Given the description of an element on the screen output the (x, y) to click on. 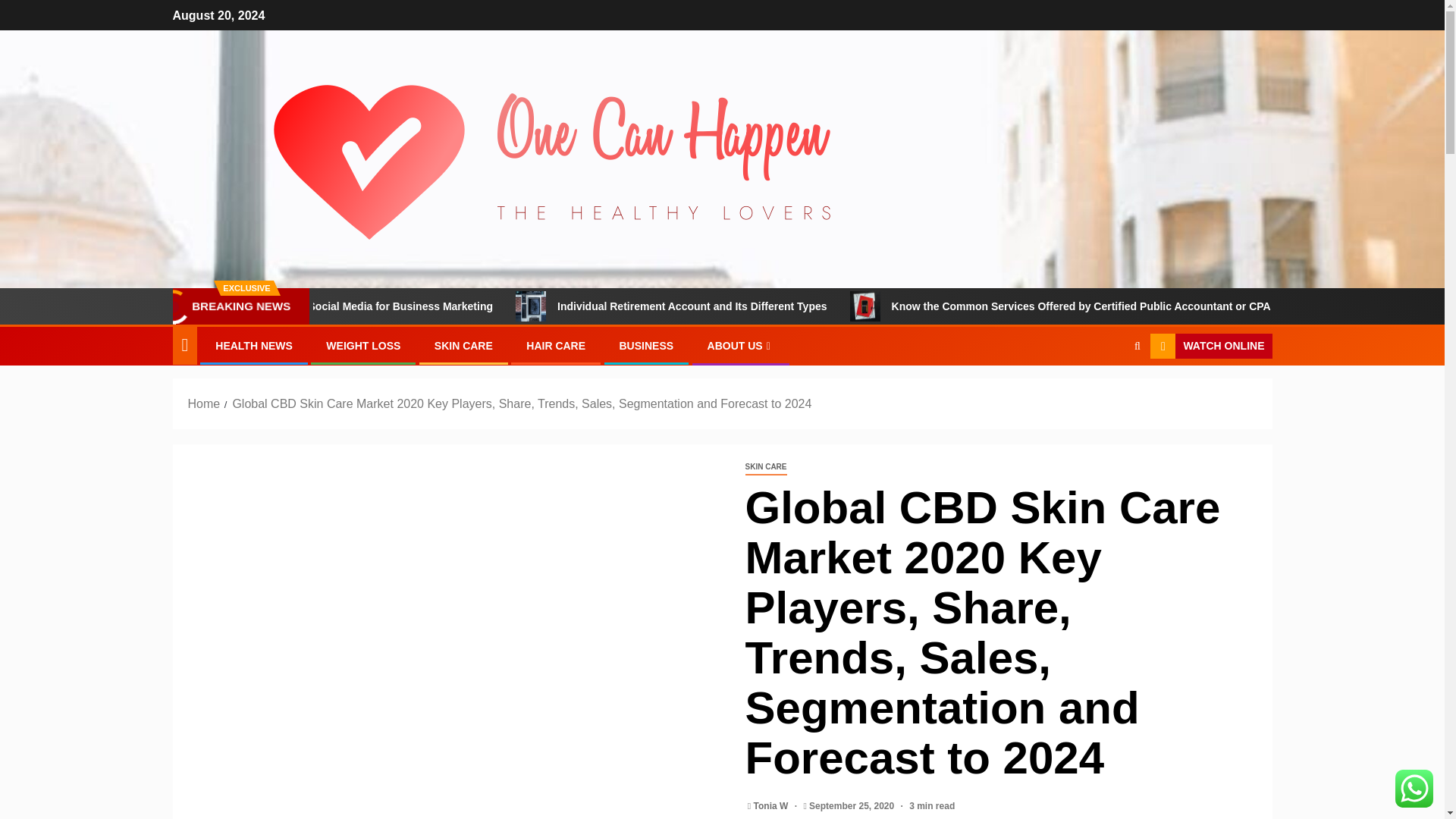
The Significance of Social Media for Business Marketing (483, 306)
WATCH ONLINE (1210, 346)
Individual Retirement Account and Its Different Types (822, 306)
HAIR CARE (555, 345)
Individual Retirement Account and Its Different Types (619, 306)
ABOUT US (740, 345)
Tonia W (772, 805)
SKIN CARE (463, 345)
BUSINESS (645, 345)
SKIN CARE (765, 467)
